Given the description of an element on the screen output the (x, y) to click on. 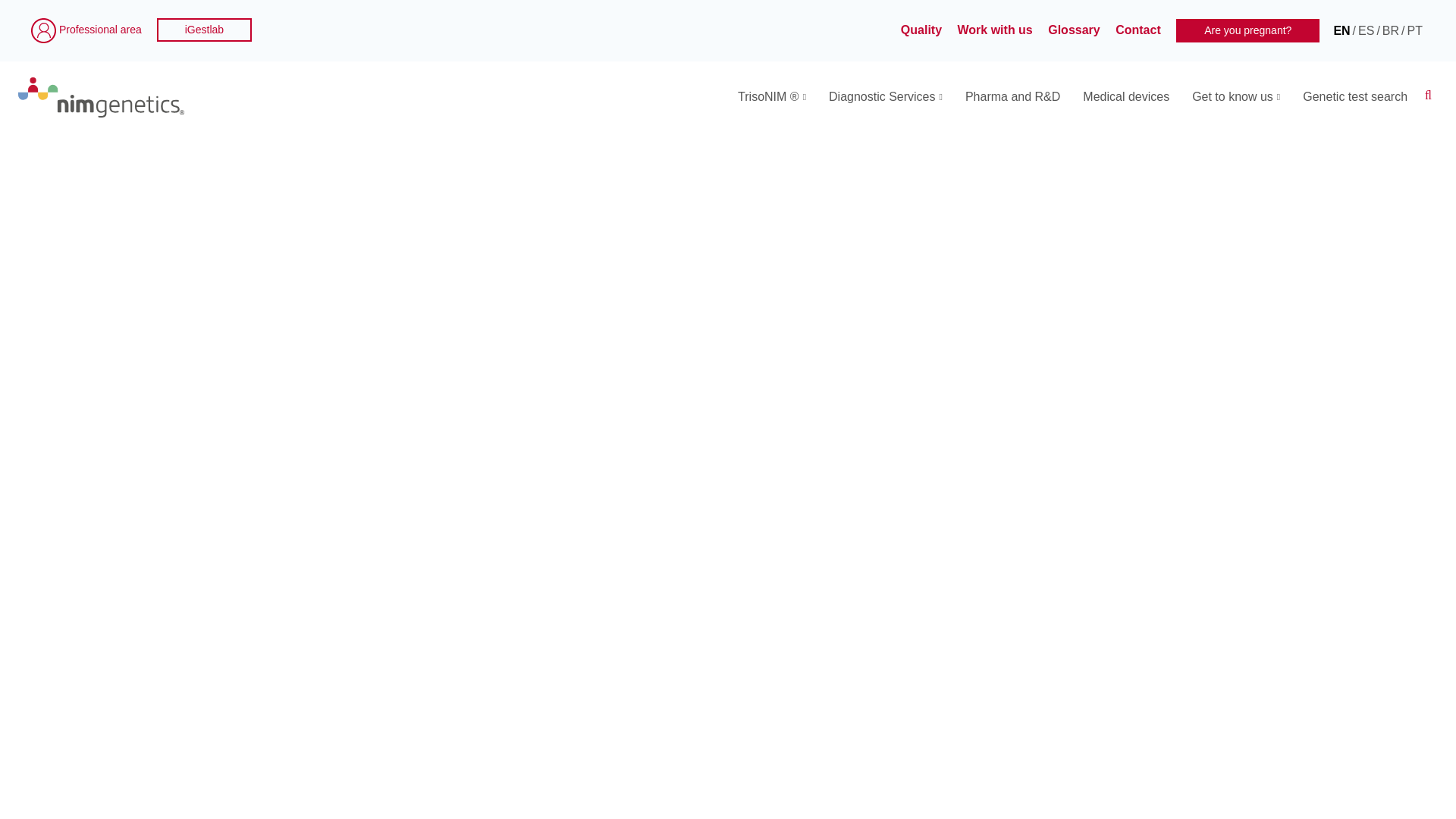
Glossary (1075, 29)
iGestlab (204, 29)
PT (1414, 30)
ES (1366, 30)
EN (1341, 30)
Quality (922, 29)
Diagnostic Services (884, 96)
BR (1390, 30)
Contact (1139, 29)
Are you pregnant? (1247, 30)
